Given the description of an element on the screen output the (x, y) to click on. 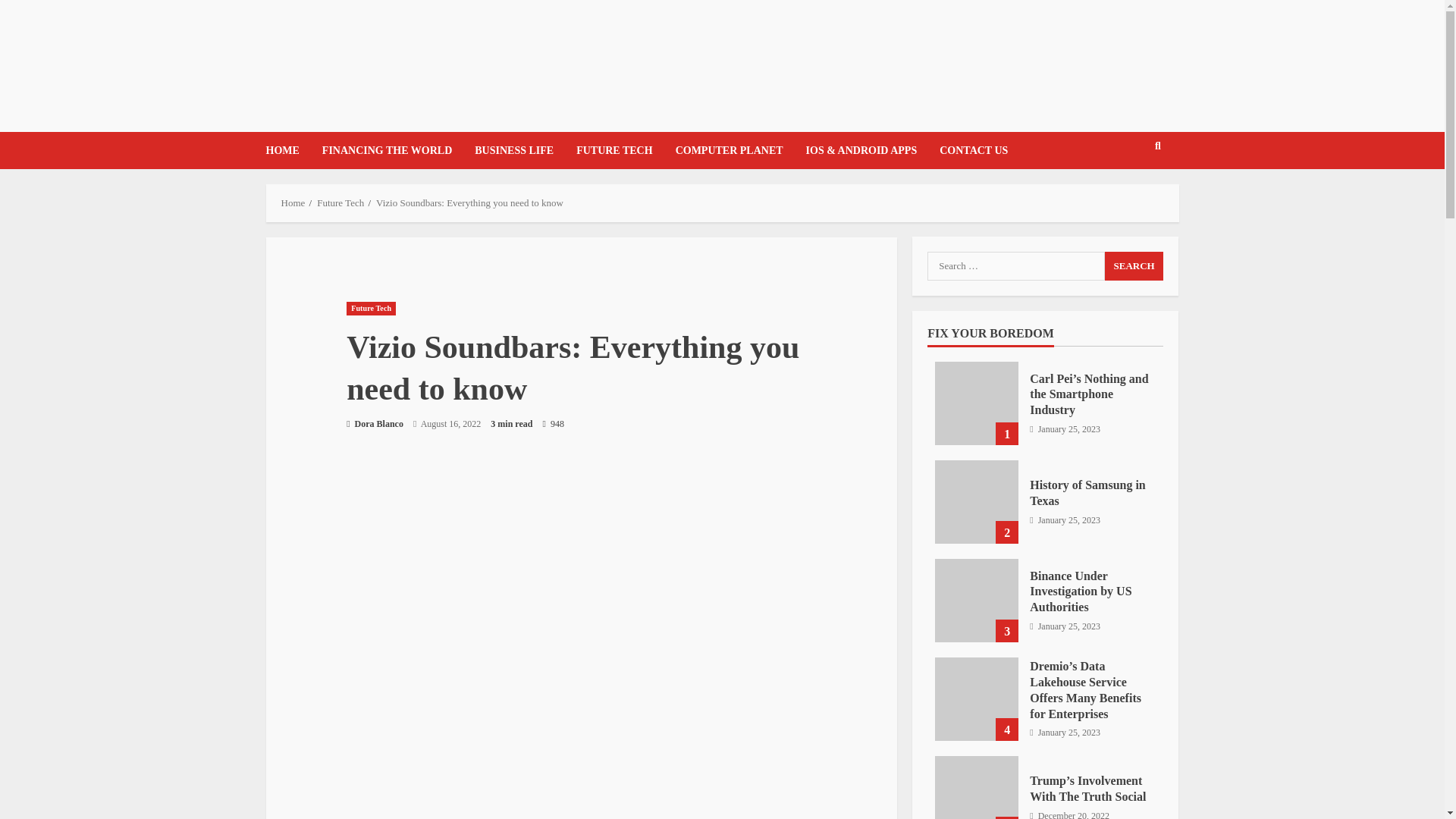
Search (1134, 265)
COMPUTER PLANET (728, 149)
FINANCING THE WORLD (387, 149)
Home (292, 202)
Search (1128, 192)
Dora Blanco (374, 423)
BUSINESS LIFE (513, 149)
CONTACT US (967, 149)
Vizio Soundbars: Everything you need to know (469, 202)
Future Tech (340, 202)
Future Tech (371, 308)
FUTURE TECH (613, 149)
Search (1134, 265)
HOME (287, 149)
948 (552, 423)
